Given the description of an element on the screen output the (x, y) to click on. 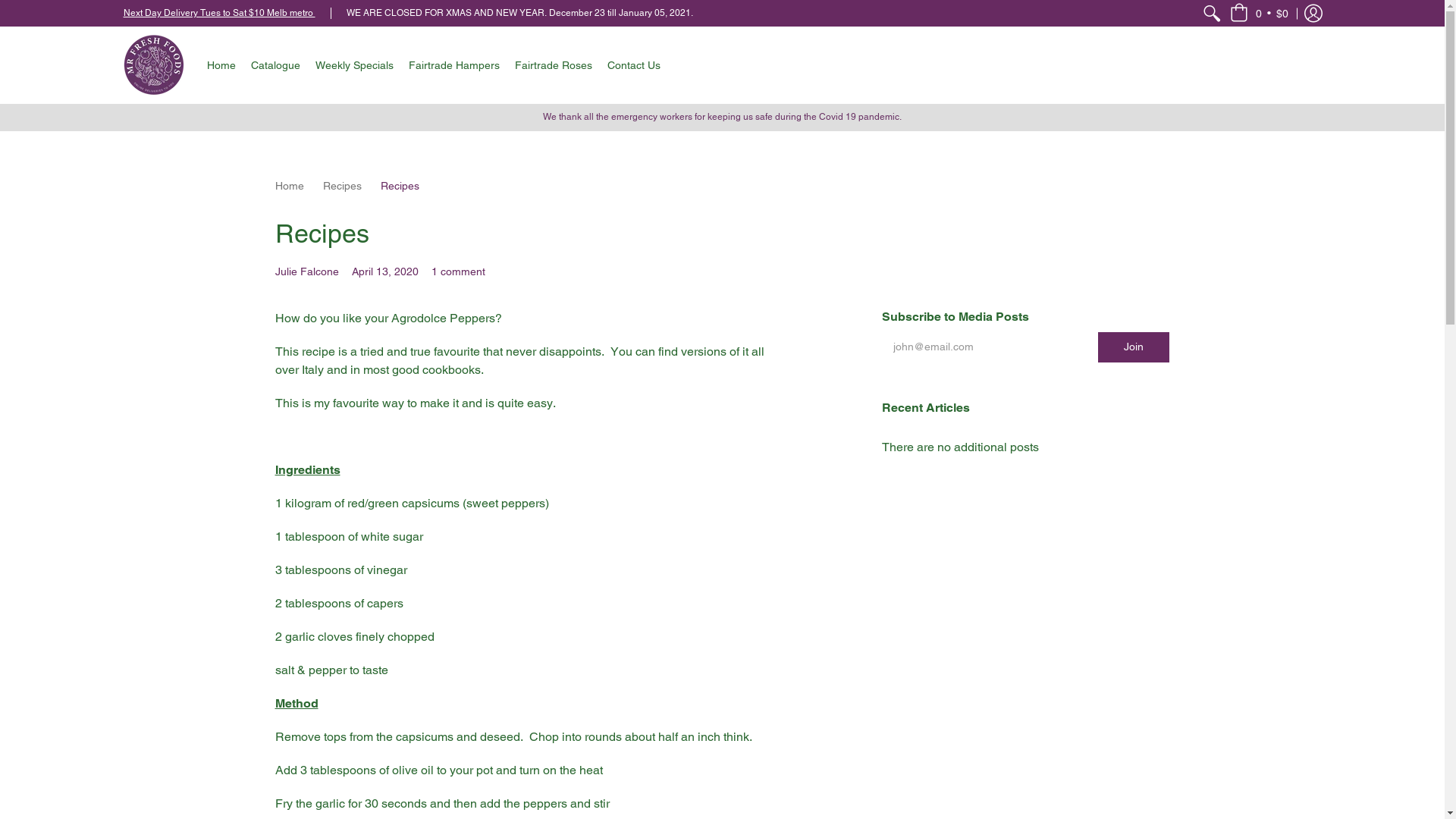
Fairtrade Roses Element type: text (552, 64)
Weekly Specials Element type: text (354, 64)
Next Day Delivery Tues to Sat $10 Melb metro  Element type: text (218, 12)
Home Element type: text (220, 64)
Contact Us Element type: text (633, 64)
1 comment Element type: text (457, 271)
Fairtrade Hampers Element type: text (453, 64)
Mr Fresh Foods Pty Ltd Element type: hover (152, 64)
Join Element type: text (1134, 347)
Search Element type: hover (1211, 13)
Log in Element type: hover (1312, 13)
Home Element type: text (288, 185)
Recipes Element type: text (342, 185)
Catalogue Element type: text (274, 64)
